Given the description of an element on the screen output the (x, y) to click on. 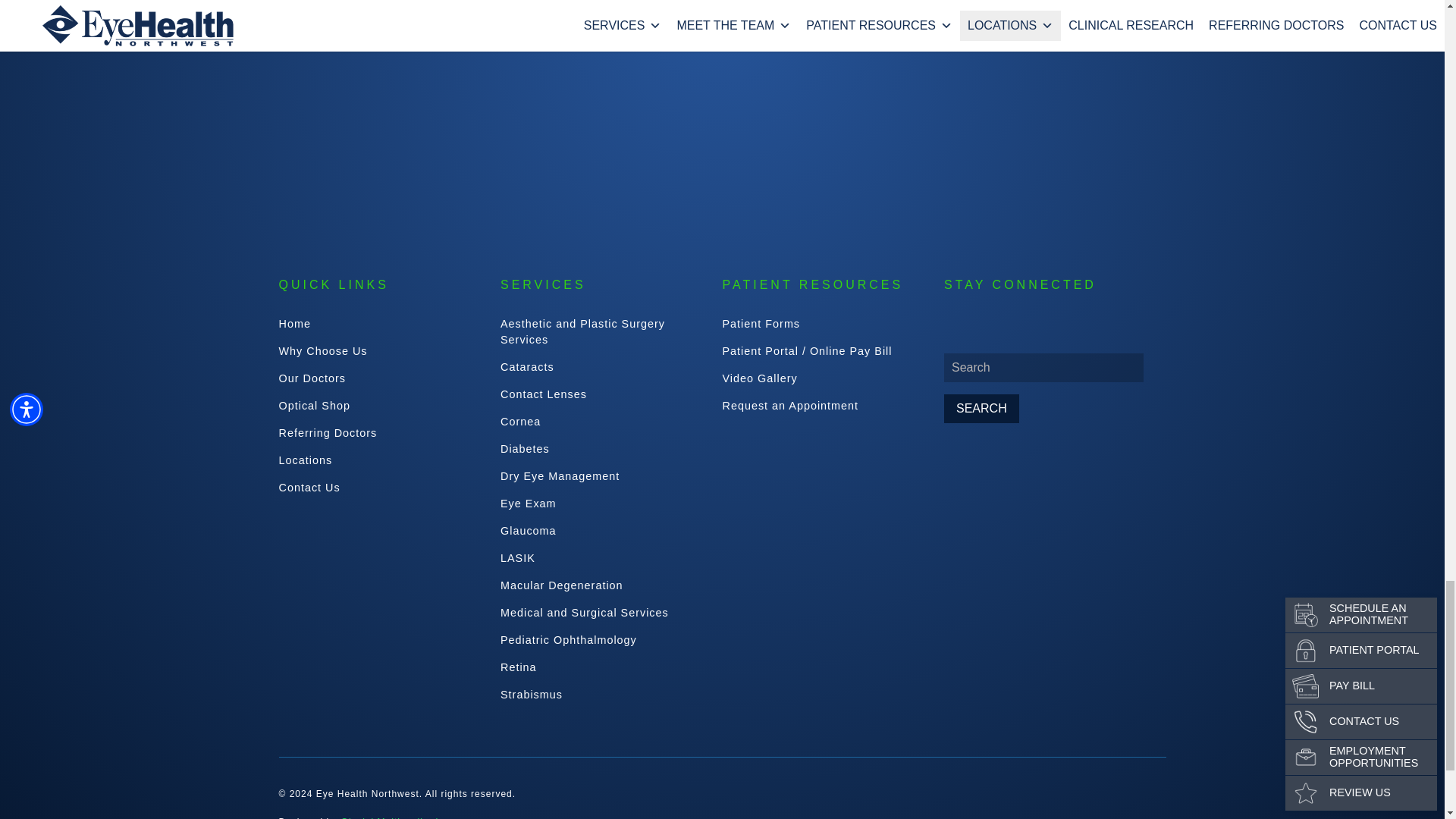
Search (981, 408)
Search (981, 408)
